Given the description of an element on the screen output the (x, y) to click on. 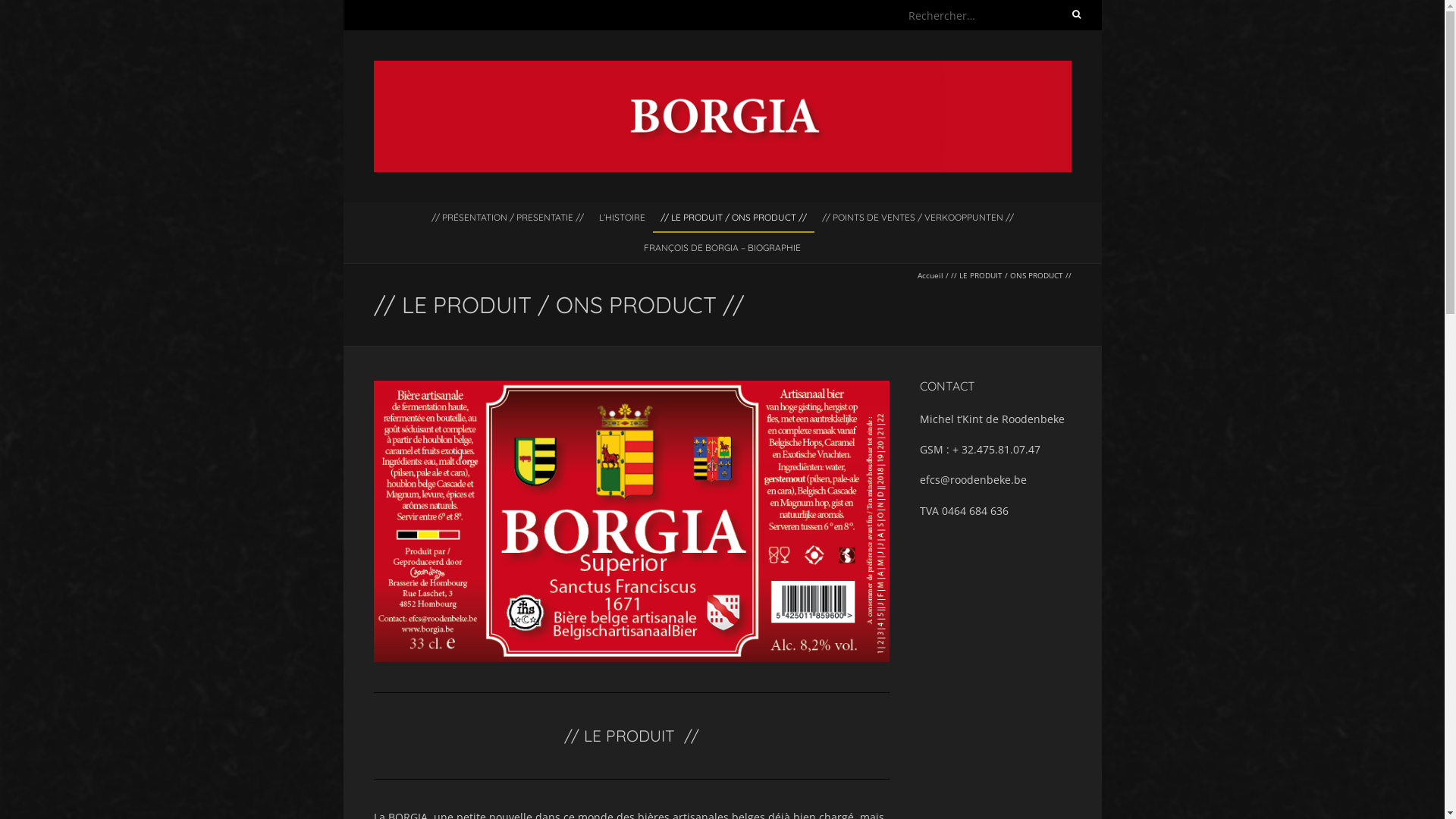
Borgia Element type: hover (721, 67)
Accueil Element type: text (930, 274)
Rechercher Element type: text (38, 9)
// POINTS DE VENTES / VERKOOPPUNTEN // Element type: text (917, 216)
// LE PRODUIT / ONS PRODUCT // Element type: text (732, 216)
